Given the description of an element on the screen output the (x, y) to click on. 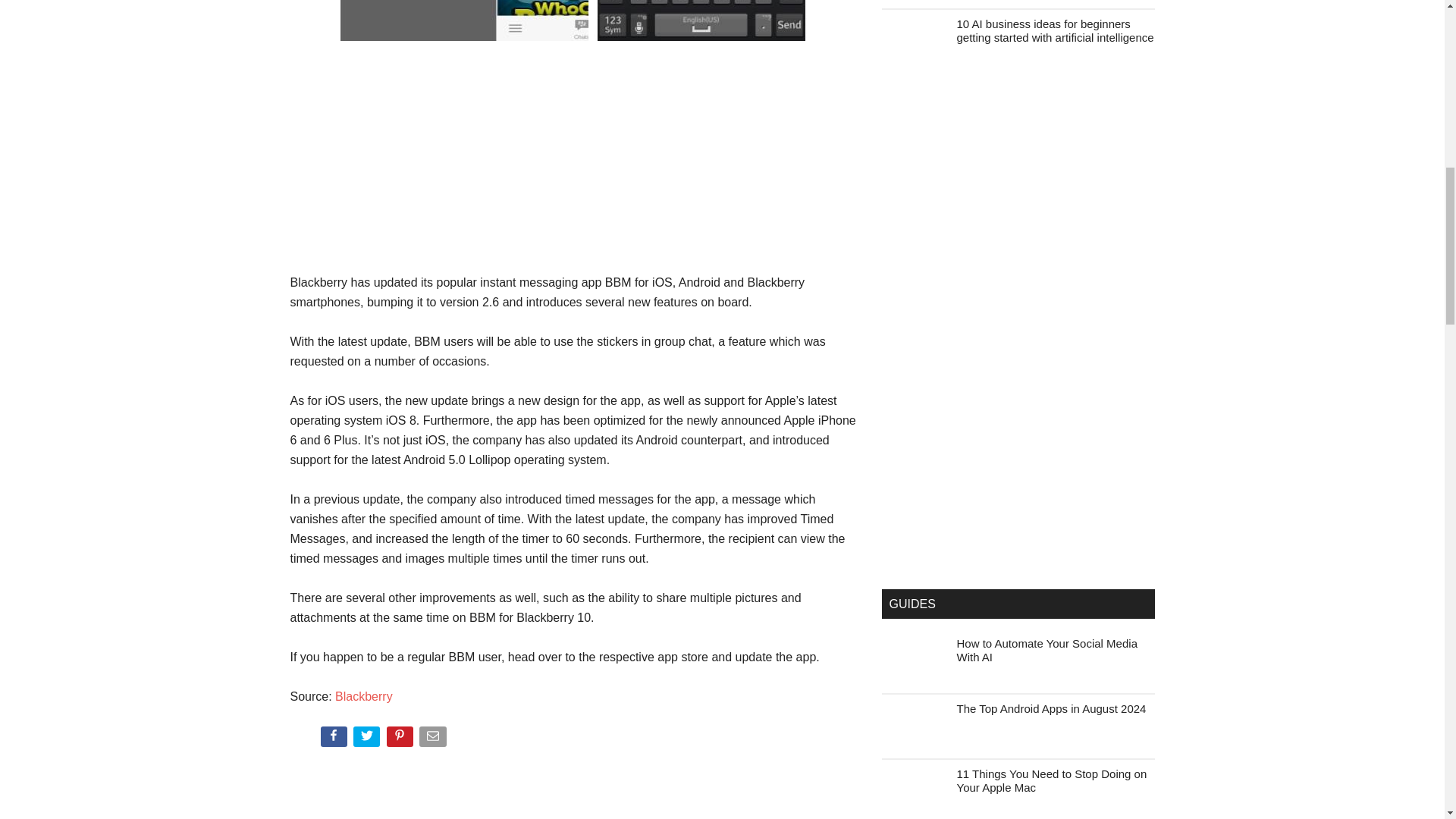
Blackberry (363, 696)
Email (433, 739)
Share on Facebook (334, 739)
Pin (401, 739)
Tweet (367, 739)
